Given the description of an element on the screen output the (x, y) to click on. 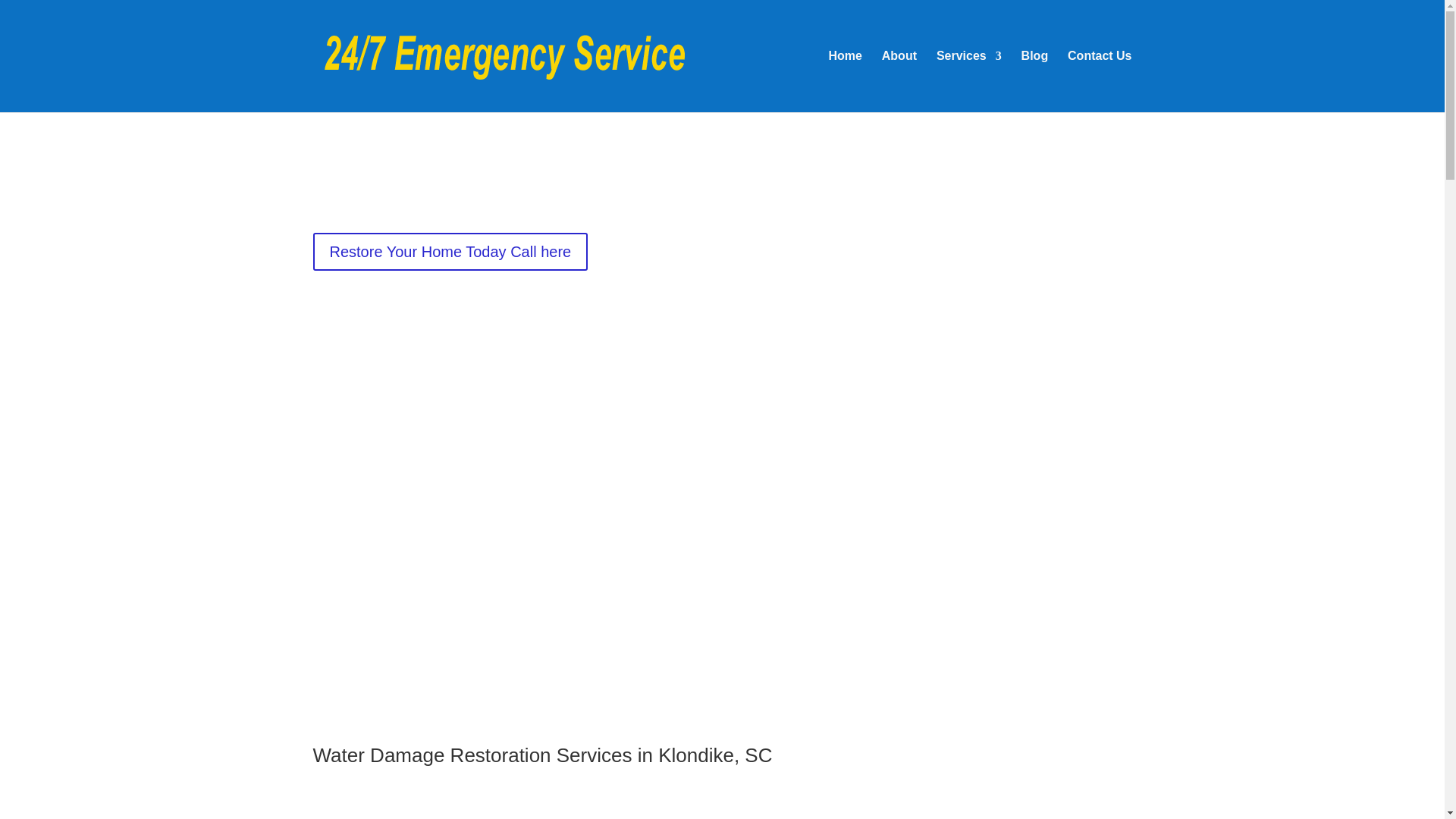
Restore Your Home Today Call here (450, 251)
Contact Us (1099, 81)
Services (968, 81)
